Given the description of an element on the screen output the (x, y) to click on. 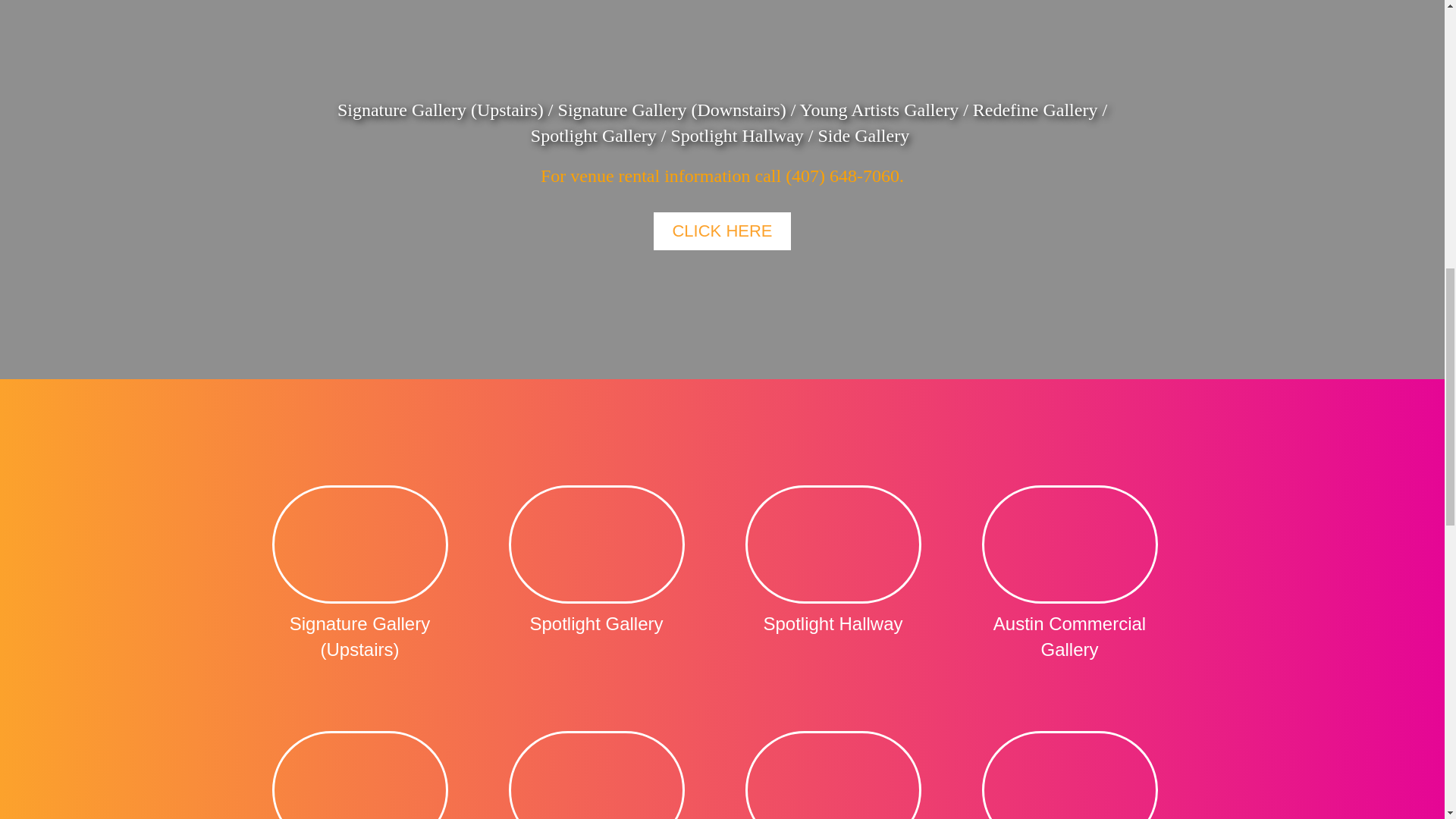
Redefine Gallery (595, 767)
CLICK HERE (721, 231)
Austin Commercial Gallery (1069, 577)
Spotlight Hallway (832, 565)
Spotlight Gallery (595, 565)
Side Gallery (359, 767)
